Given the description of an element on the screen output the (x, y) to click on. 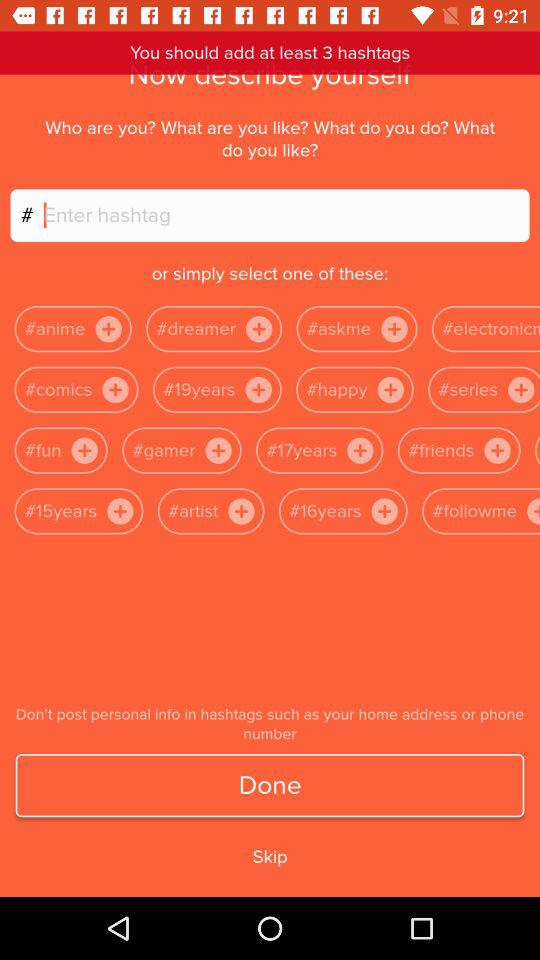
click on add button in fun box (85, 451)
click on the button right to the text happy (390, 389)
